Given the description of an element on the screen output the (x, y) to click on. 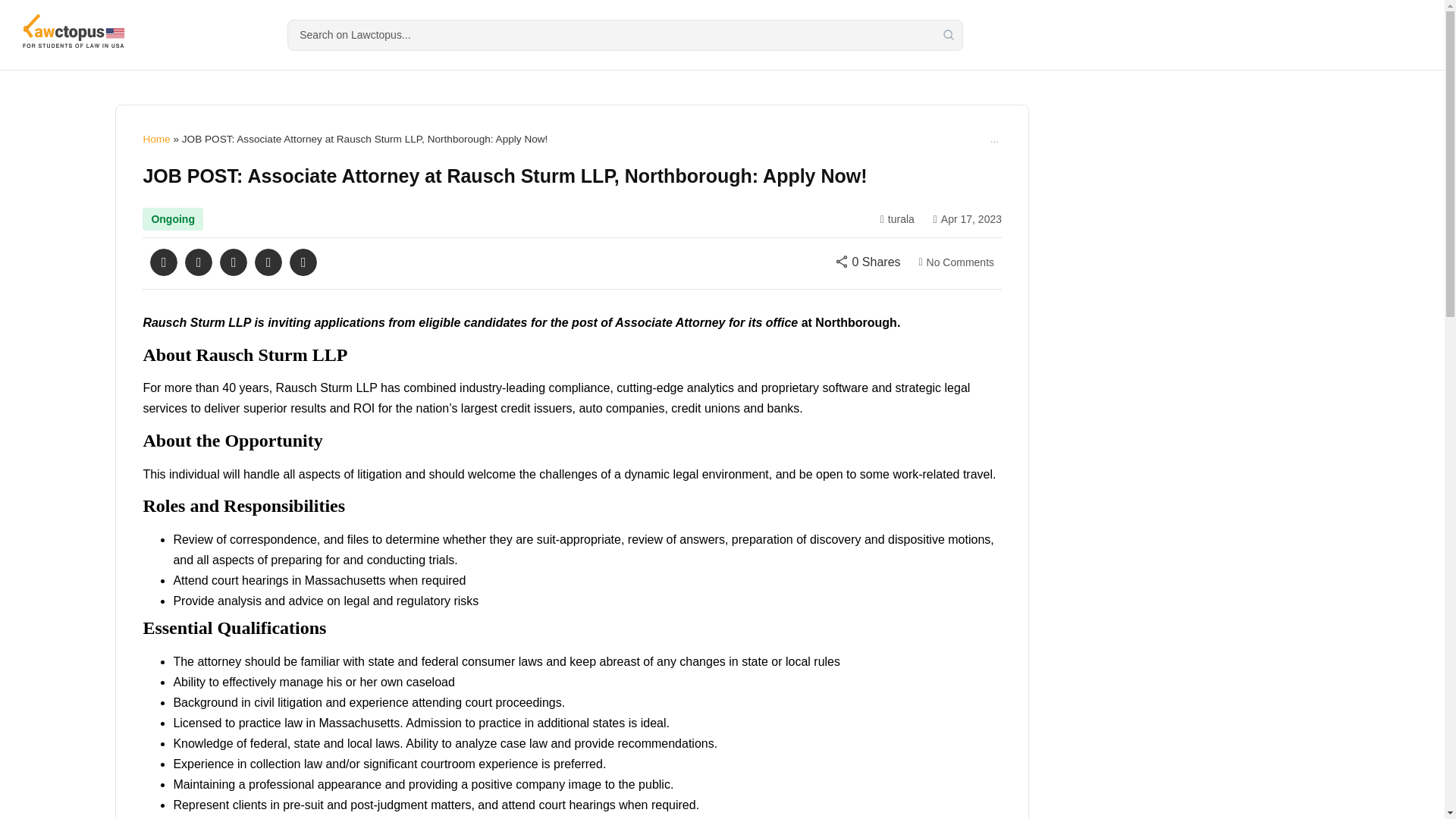
turala (893, 219)
Apr 17, 2023 (963, 219)
No Comments (953, 262)
Home (156, 138)
